Given the description of an element on the screen output the (x, y) to click on. 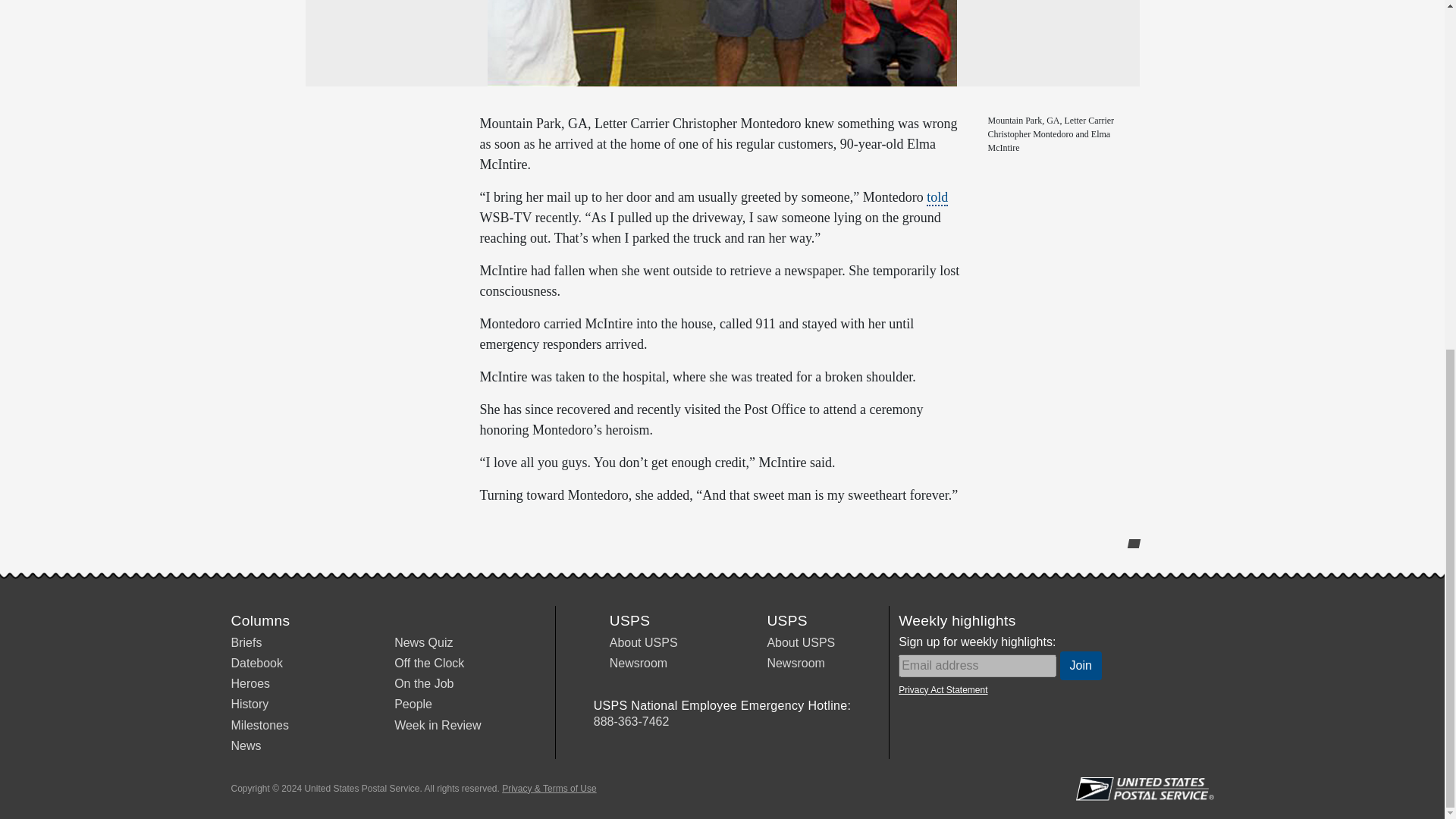
Milestones (259, 725)
About USPS (644, 642)
Heroes (249, 683)
Briefs (246, 642)
History (248, 703)
News Quiz (423, 642)
Week in Review (437, 725)
Join (1080, 665)
About USPS (800, 642)
Off the Clock (429, 662)
News (245, 745)
On the Job (423, 683)
told (936, 197)
Datebook (256, 662)
Join (1080, 665)
